Given the description of an element on the screen output the (x, y) to click on. 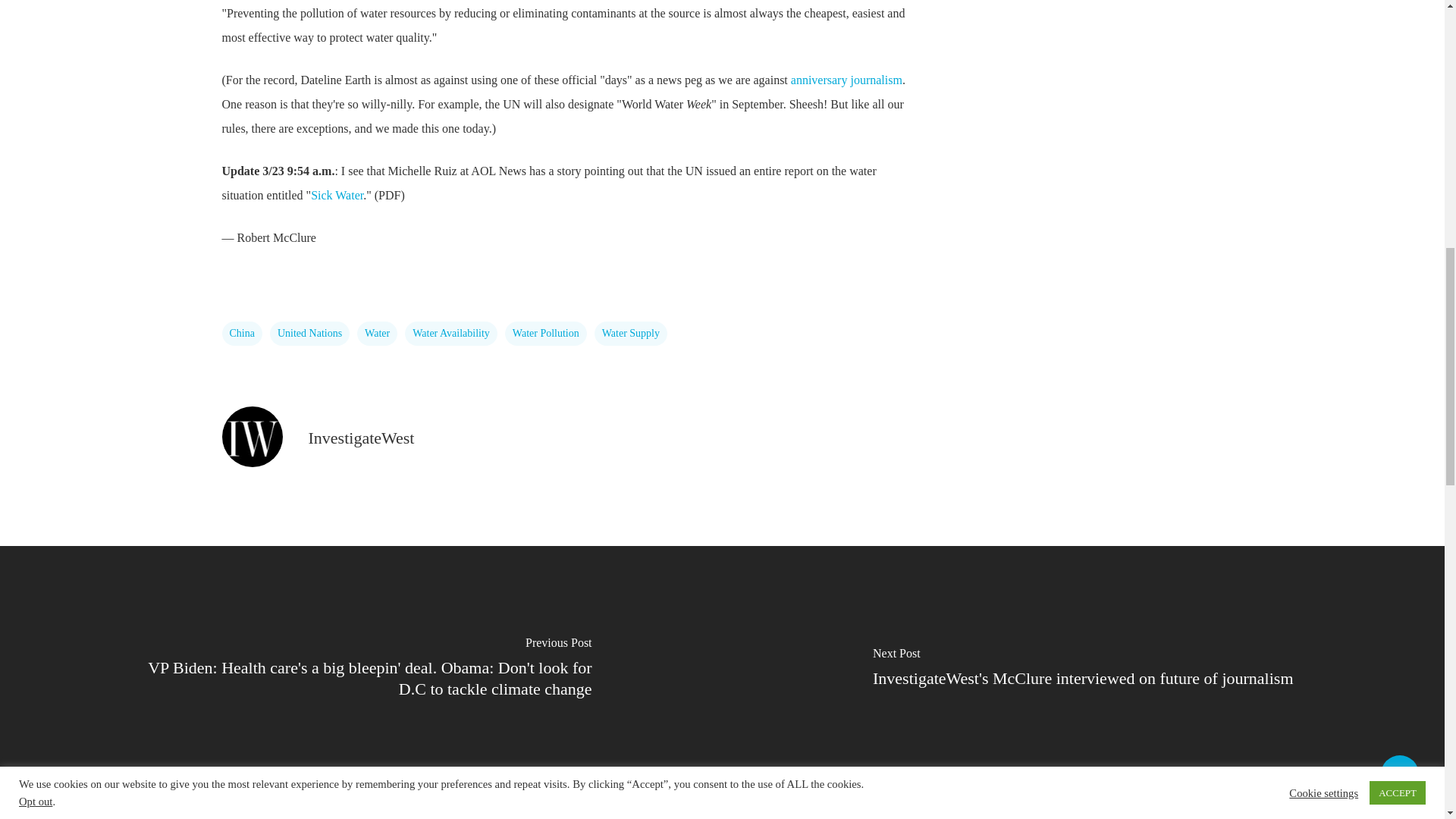
Sick Water (336, 195)
anniversary journalism (846, 79)
